Given the description of an element on the screen output the (x, y) to click on. 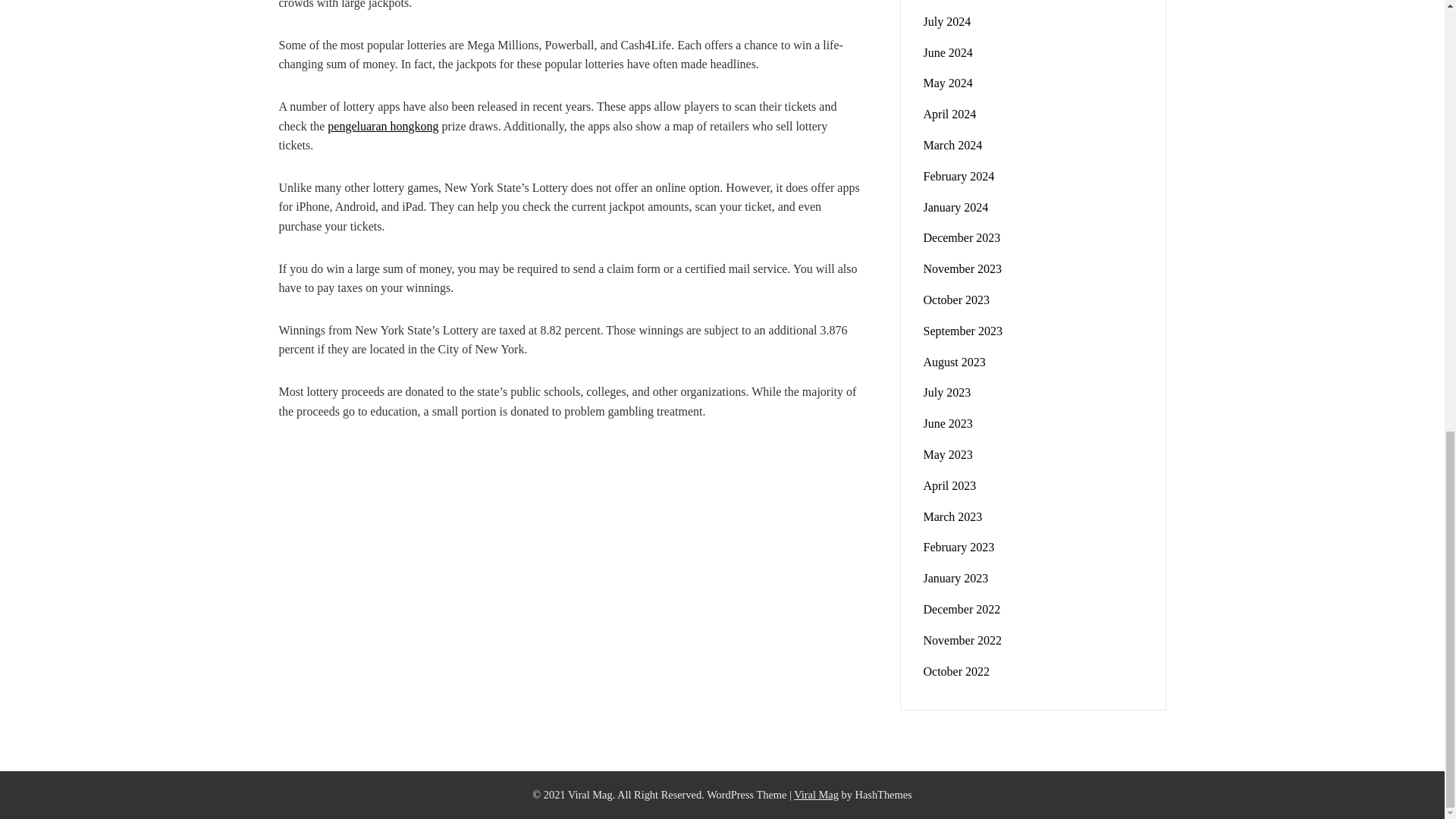
February 2024 (958, 175)
Download Viral News (815, 794)
March 2024 (952, 144)
April 2023 (949, 485)
pengeluaran hongkong (382, 125)
June 2024 (947, 51)
November 2023 (963, 268)
December 2023 (962, 237)
July 2024 (947, 21)
May 2024 (947, 82)
